Given the description of an element on the screen output the (x, y) to click on. 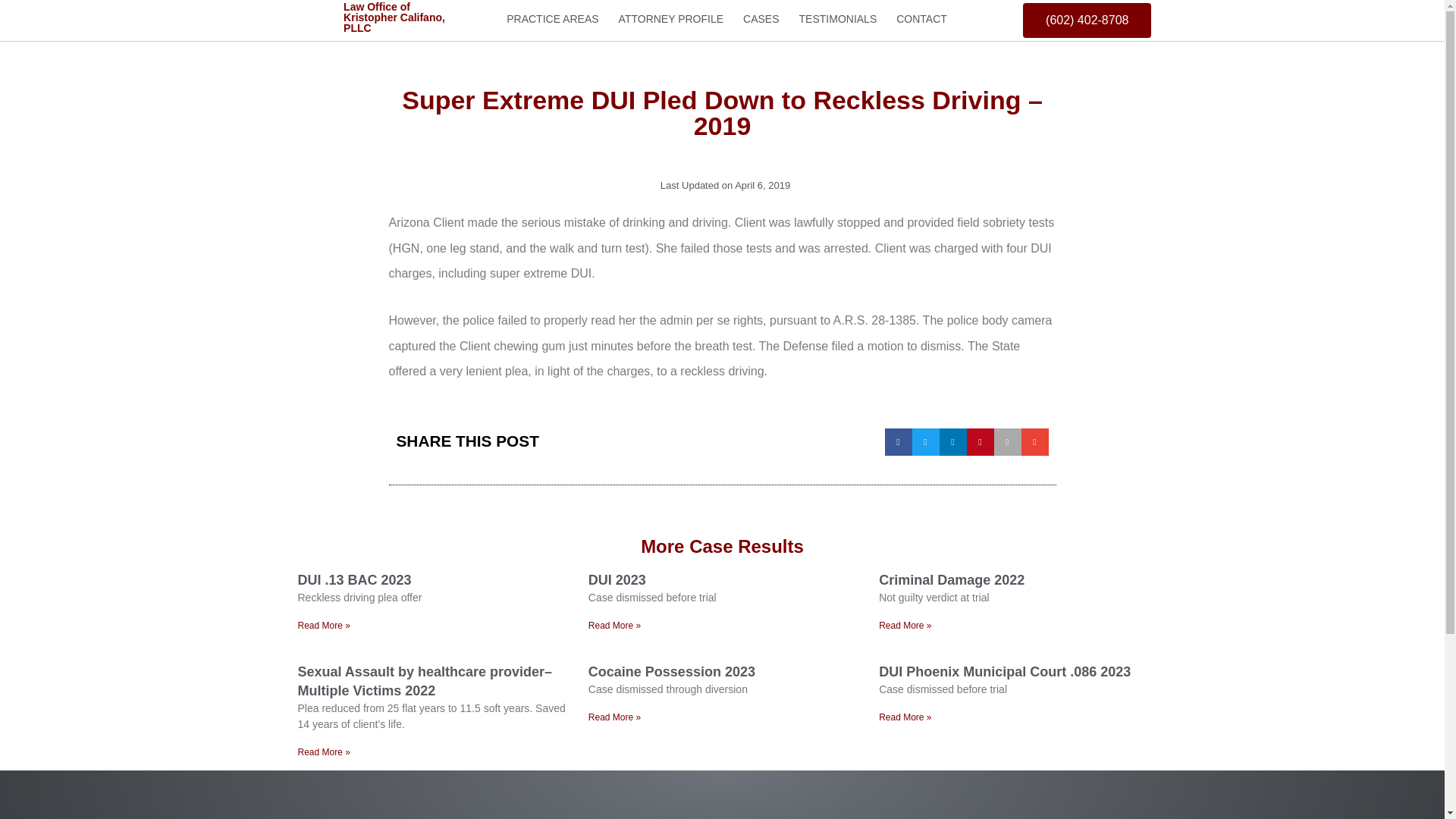
DUI .13 BAC 2023 (353, 580)
Law Office of Kristopher Califano, PLLC (394, 17)
Cocaine Possession 2023 (671, 671)
DUI 2023 (617, 580)
Criminal Damage 2022 (952, 580)
ATTORNEY PROFILE (670, 19)
More Case Results (721, 546)
DUI Phoenix Municipal Court .086 2023 (1005, 671)
CONTACT (921, 19)
CASES (761, 19)
